Given the description of an element on the screen output the (x, y) to click on. 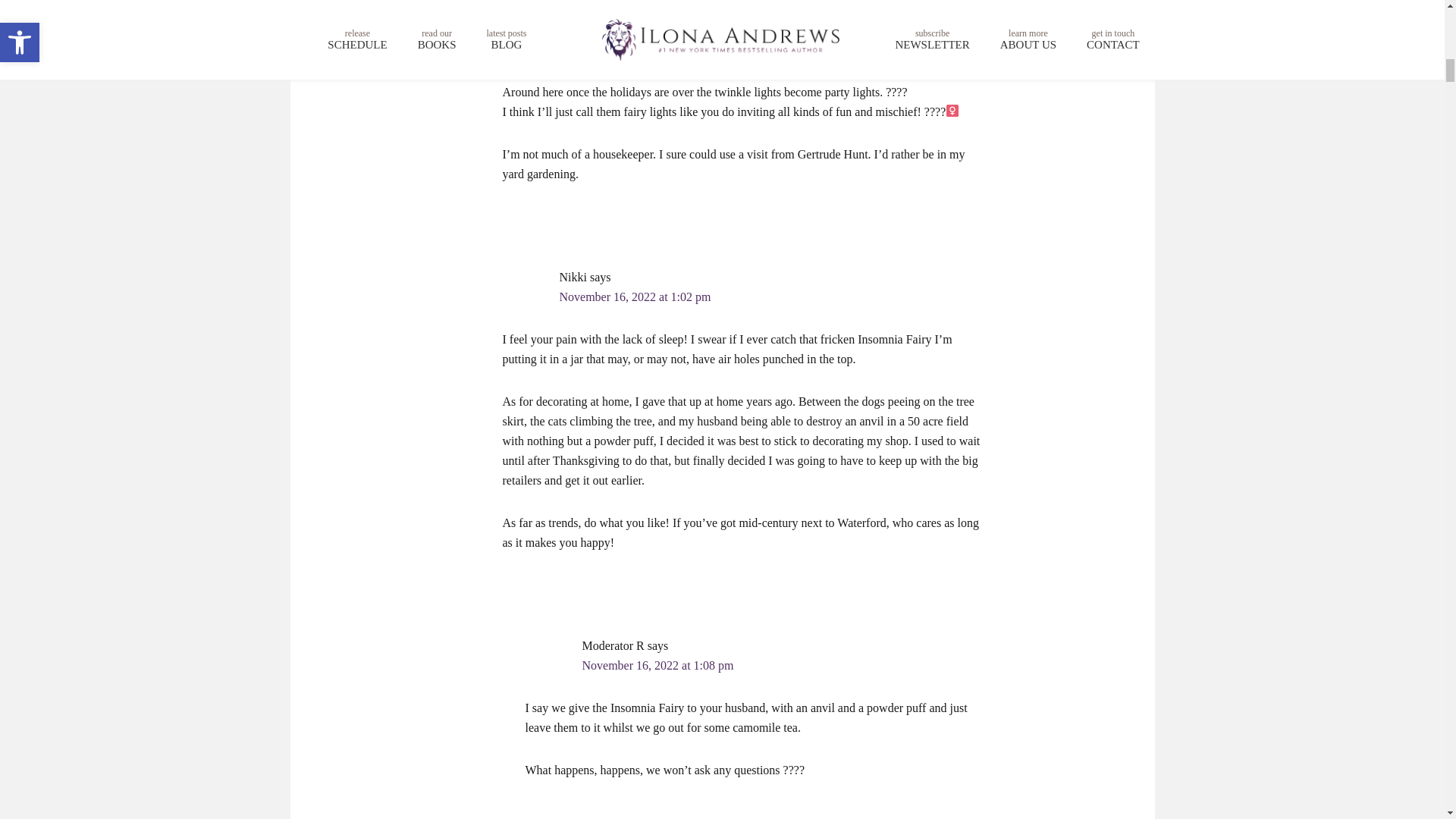
November 16, 2022 at 12:12 pm (638, 49)
November 16, 2022 at 1:02 pm (635, 296)
